Given the description of an element on the screen output the (x, y) to click on. 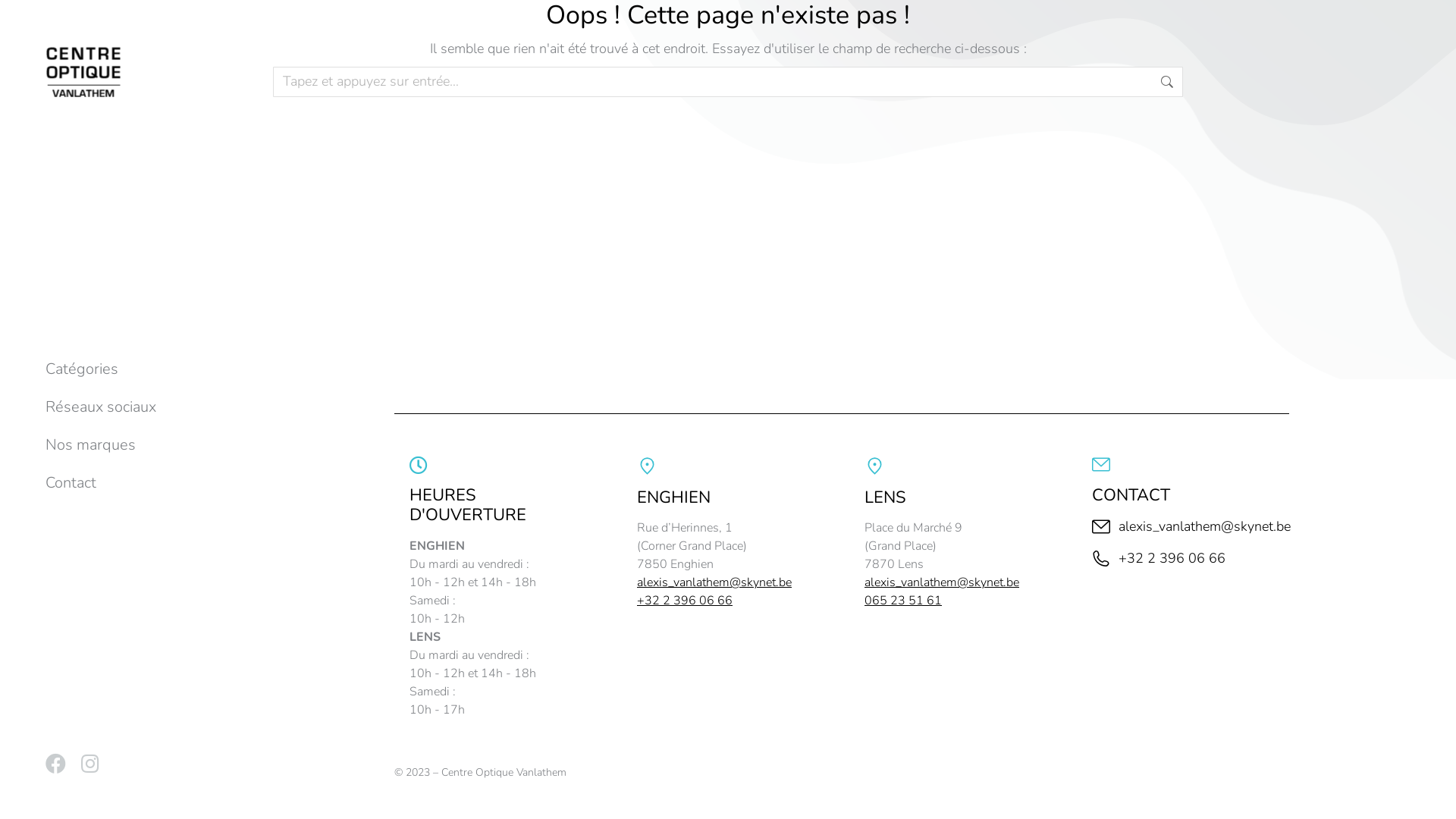
alexis_vanlathem@skynet.be Element type: text (714, 582)
Contact Element type: text (113, 482)
Aller ! Element type: text (1207, 79)
065 23 51 61 Element type: text (902, 600)
ENGHIEN Element type: text (673, 497)
LENS Element type: text (885, 497)
alexis_vanlathem@skynet.be Element type: text (1183, 526)
+32 2 396 06 66 Element type: text (1183, 558)
alexis_vanlathem@skynet.be Element type: text (941, 582)
HEURES D'OUVERTURE Element type: text (467, 504)
CONTACT Element type: text (1131, 494)
Nos marques Element type: text (113, 444)
+32 2 396 06 66 Element type: text (684, 600)
